Given the description of an element on the screen output the (x, y) to click on. 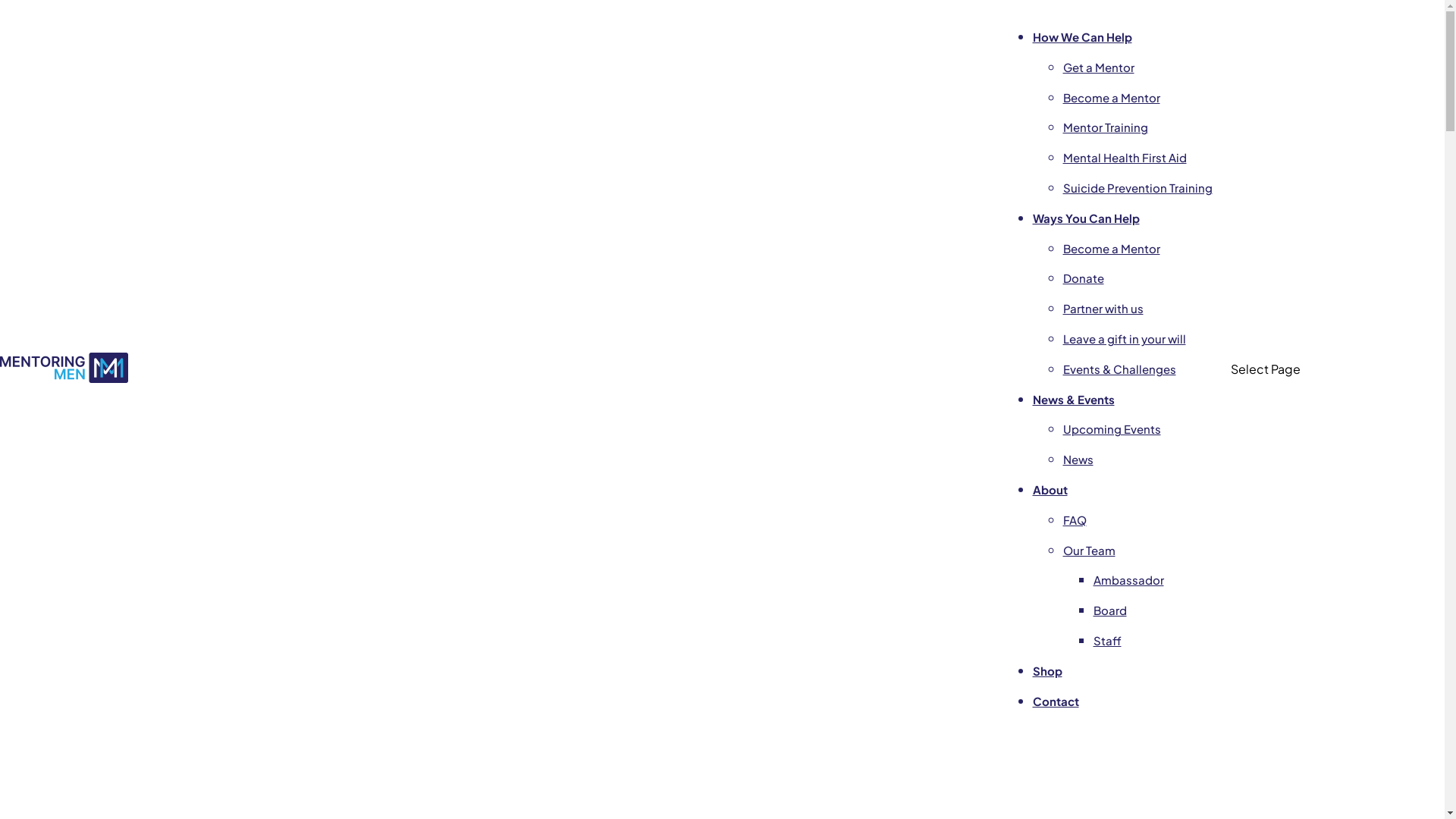
Staff Element type: text (1107, 640)
Ways You Can Help Element type: text (1085, 217)
Become a Mentor Element type: text (1111, 248)
Our Team Element type: text (1089, 549)
News Element type: text (1078, 458)
Events & Challenges Element type: text (1119, 368)
Upcoming Events Element type: text (1112, 428)
Become a Mentor Element type: text (1111, 97)
Shop Element type: text (1047, 670)
About Element type: text (1049, 489)
How We Can Help Element type: text (1082, 36)
Suicide Prevention Training Element type: text (1137, 187)
News & Events Element type: text (1073, 399)
FAQ Element type: text (1074, 519)
Board Element type: text (1109, 609)
Mental Health First Aid Element type: text (1124, 157)
Donate Element type: text (1083, 277)
Get a Mentor Element type: text (1098, 66)
Mentor Training Element type: text (1105, 126)
Leave a gift in your will Element type: text (1124, 338)
Contact Element type: text (1055, 700)
Ambassador Element type: text (1128, 579)
Partner with us Element type: text (1103, 308)
